Given the description of an element on the screen output the (x, y) to click on. 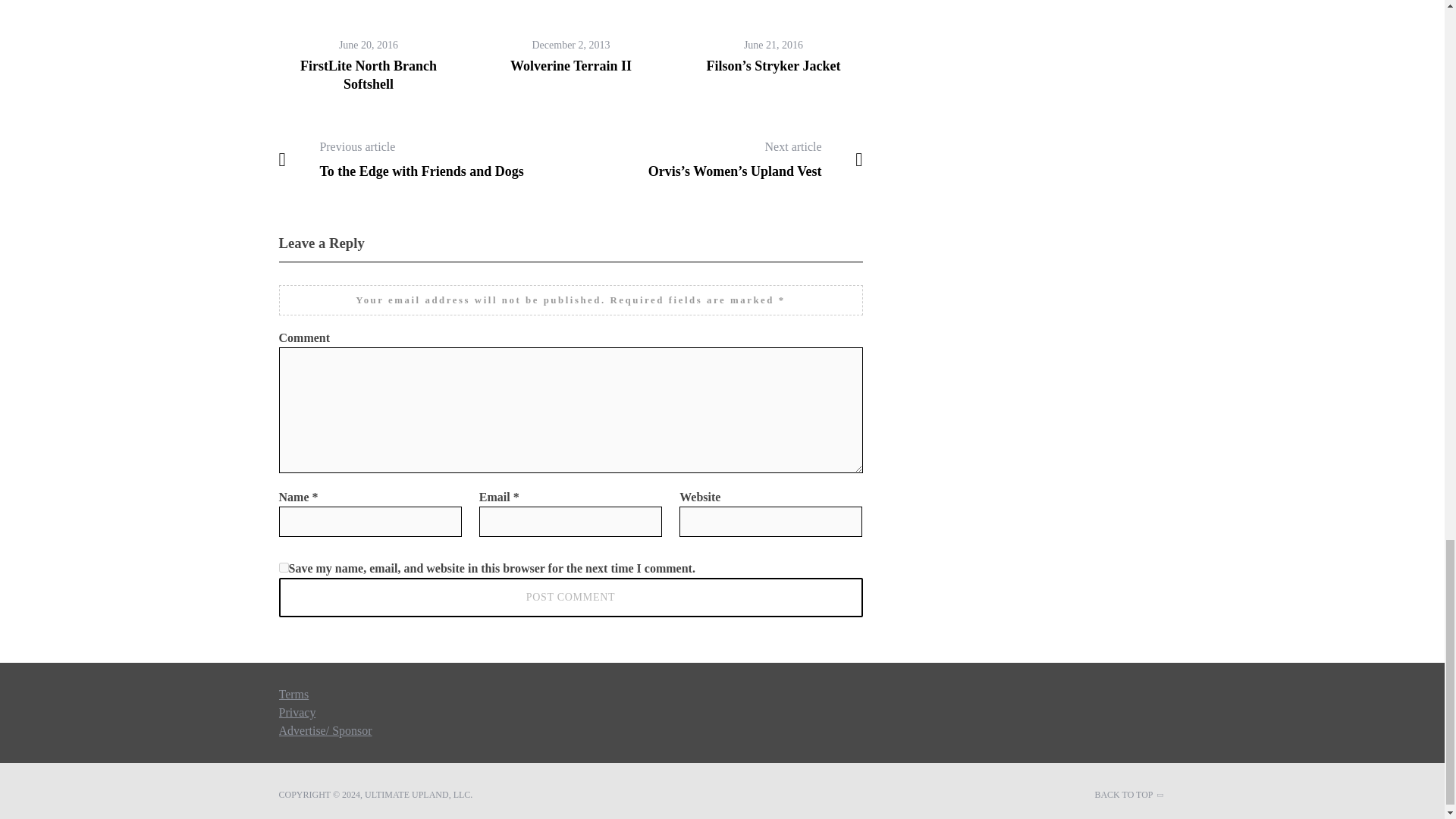
Post Comment (571, 597)
yes (283, 567)
